Given the description of an element on the screen output the (x, y) to click on. 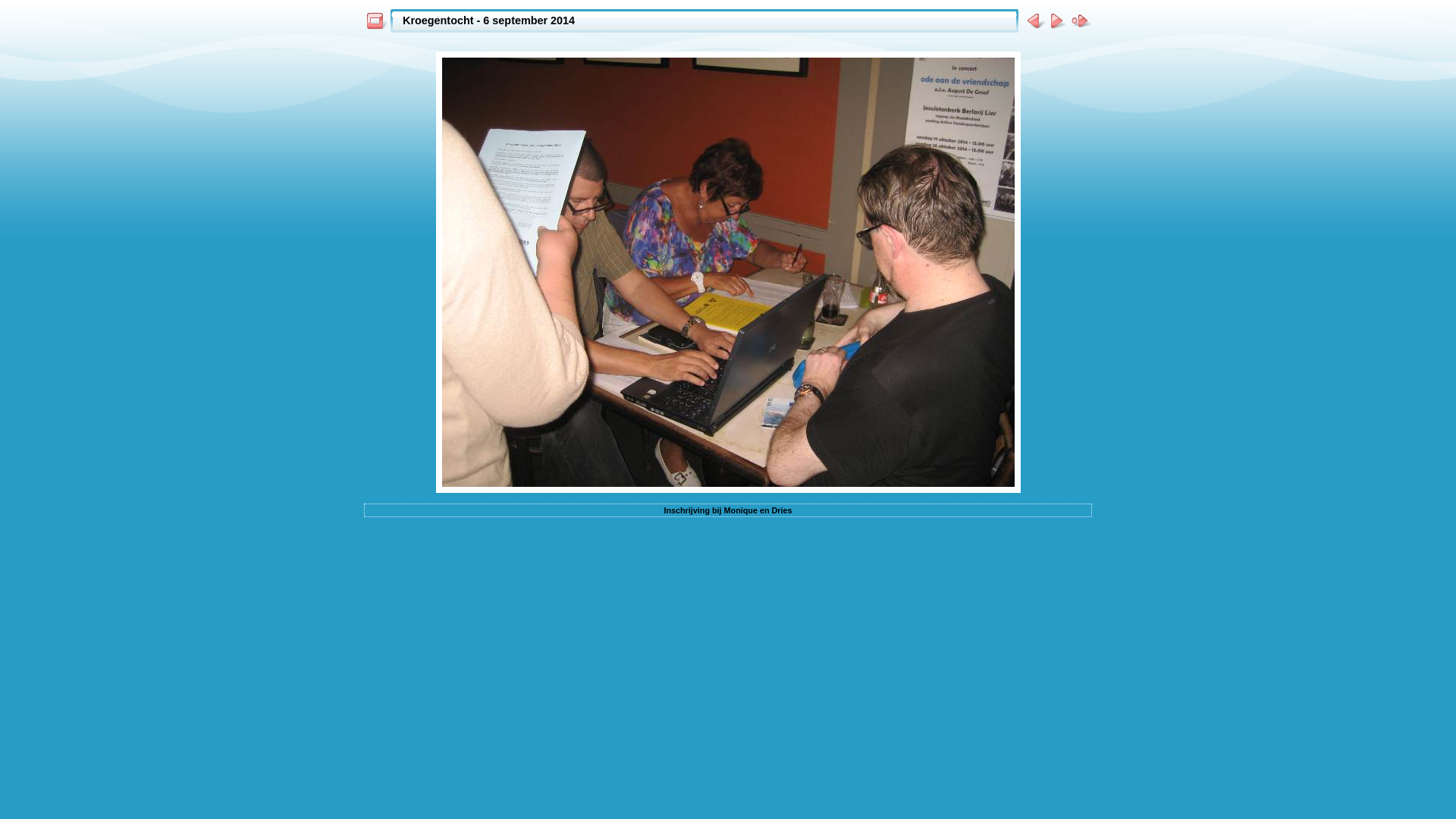
 Volgende foto  Element type: hover (1056, 20)
Kroegentocht - 6 september 2014 Element type: text (488, 20)
 Inhoudspagina  Element type: hover (375, 20)
 Vorige foto  Element type: hover (1032, 20)
